Given the description of an element on the screen output the (x, y) to click on. 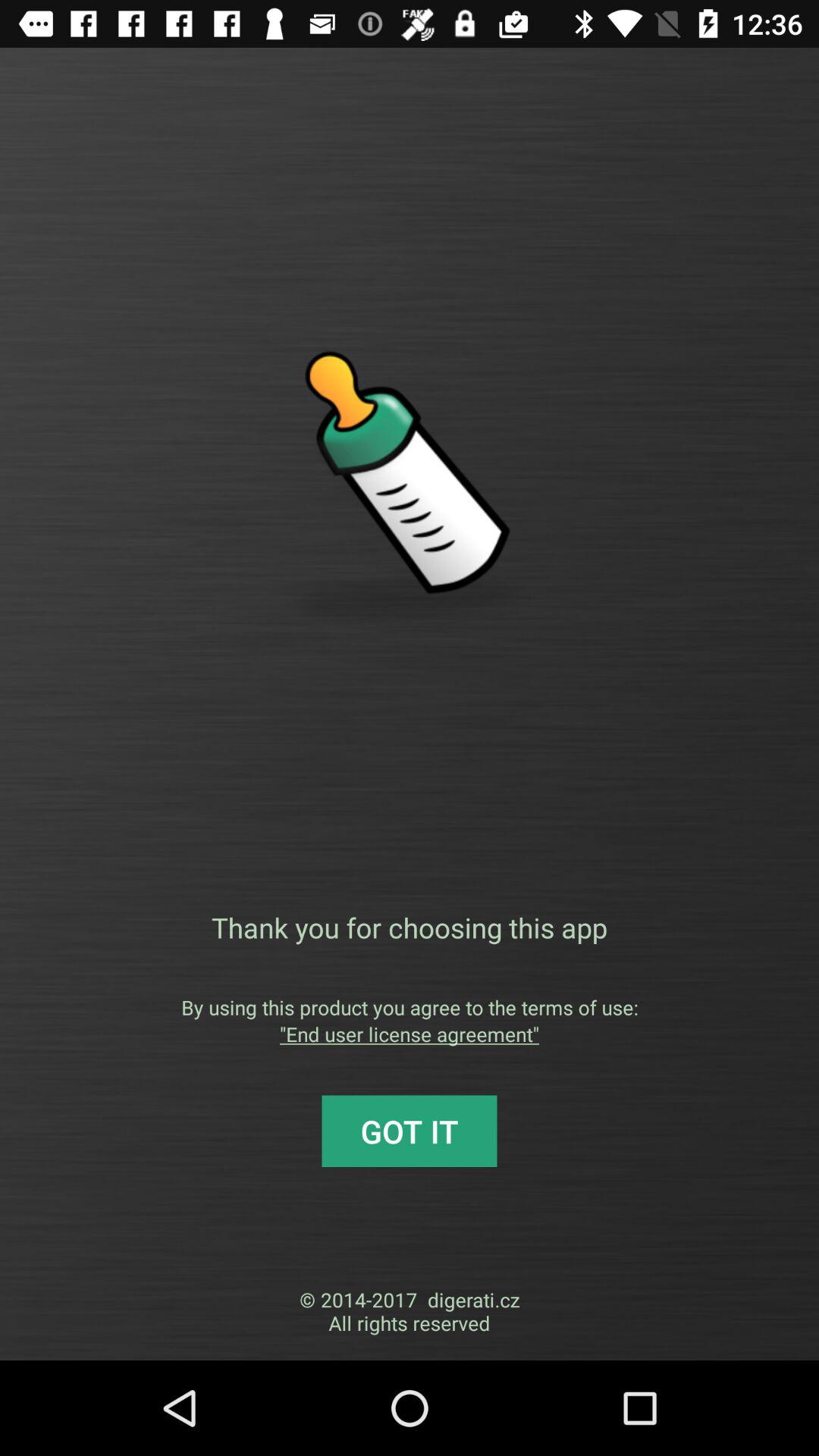
press the button below the got it item (409, 1311)
